Given the description of an element on the screen output the (x, y) to click on. 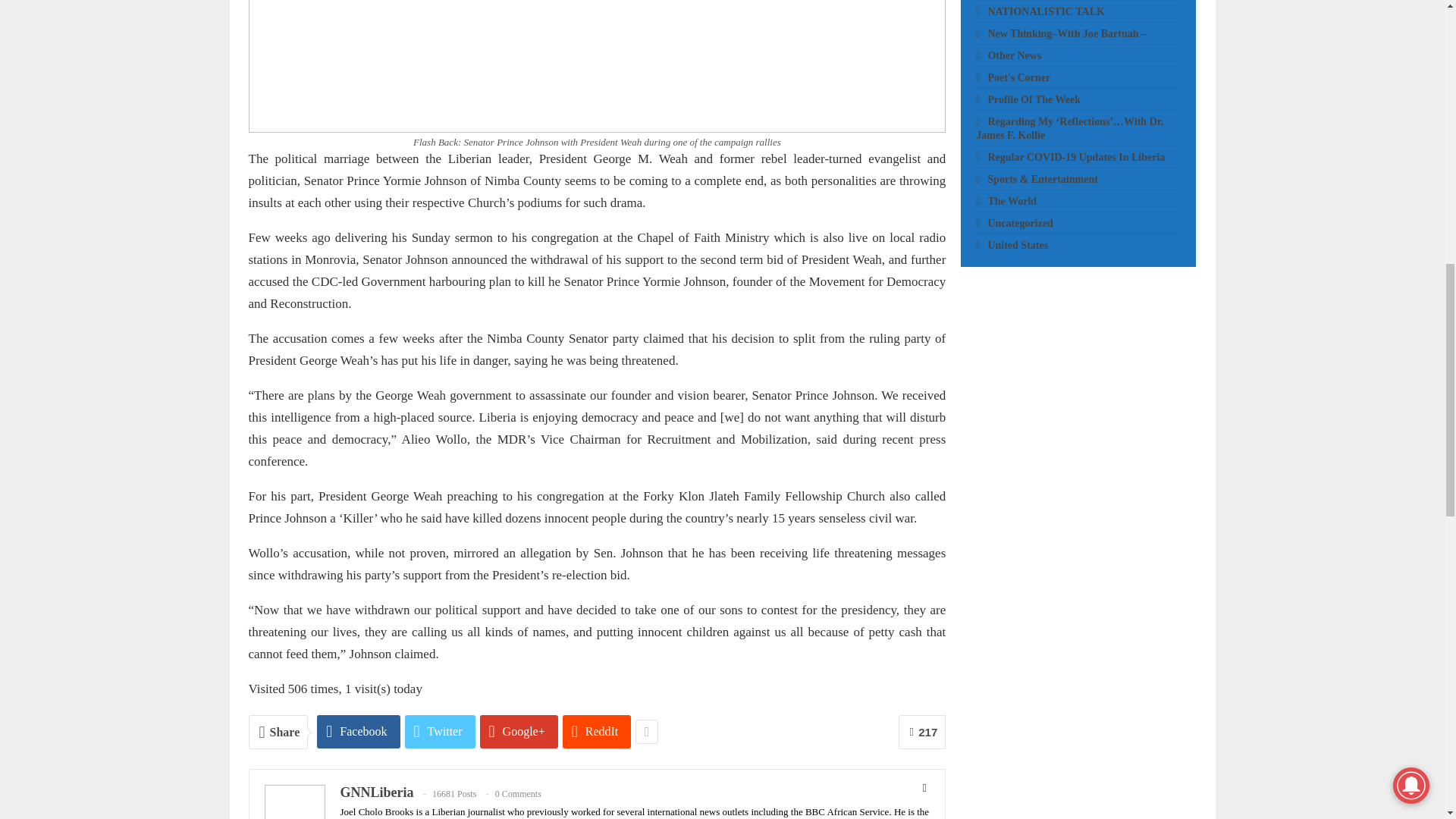
Facebook (357, 731)
Twitter (440, 731)
ReddIt (596, 731)
GNNLiberia (376, 792)
